Given the description of an element on the screen output the (x, y) to click on. 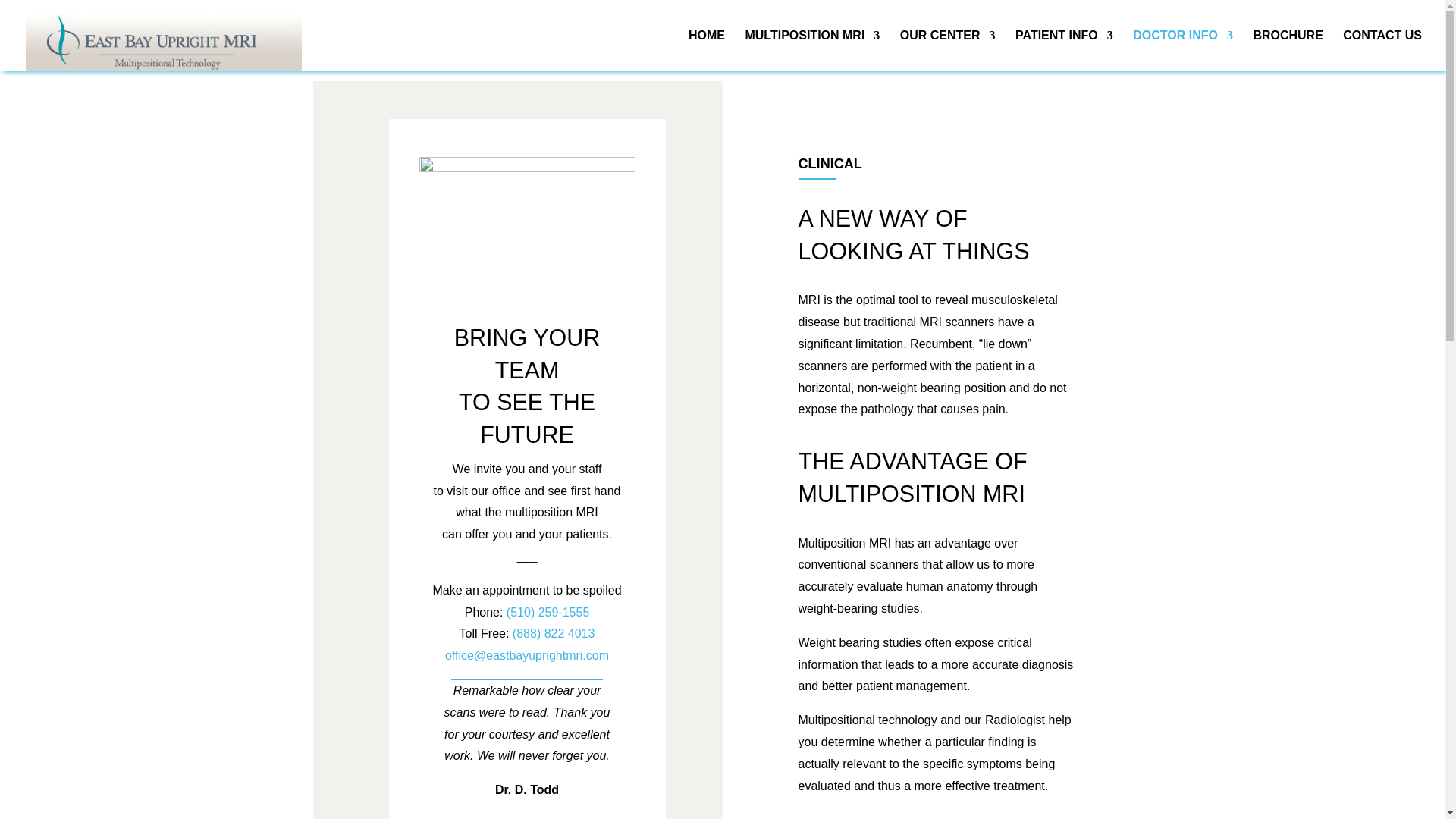
DOCTOR INFO (1182, 50)
OUR CENTER (947, 50)
CONTACT US (1382, 50)
BROCHURE (1287, 50)
PATIENT INFO (1063, 50)
MULTIPOSITION MRI (811, 50)
